Given the description of an element on the screen output the (x, y) to click on. 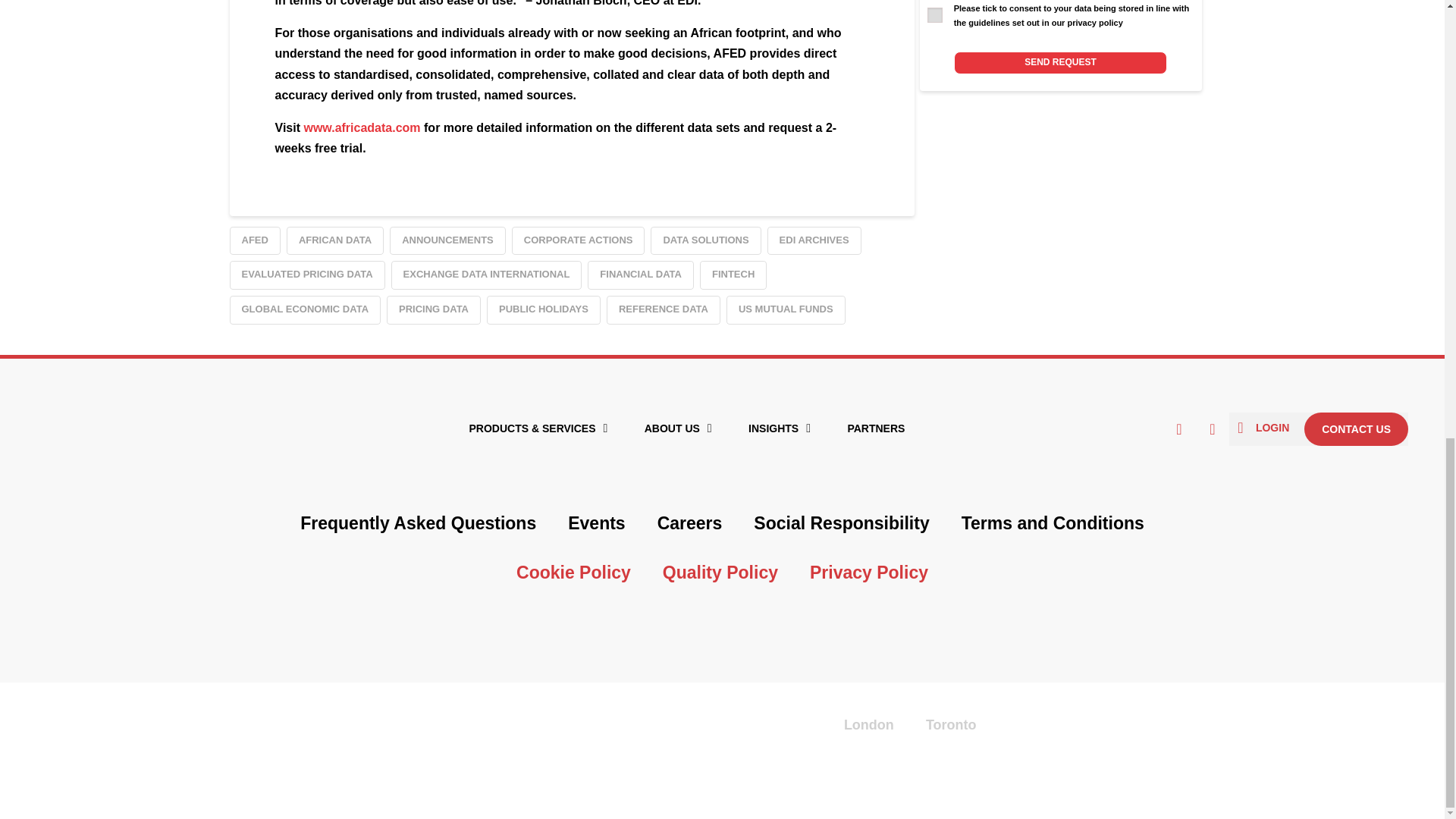
1 (934, 14)
SEND REQUEST (1060, 62)
